Given the description of an element on the screen output the (x, y) to click on. 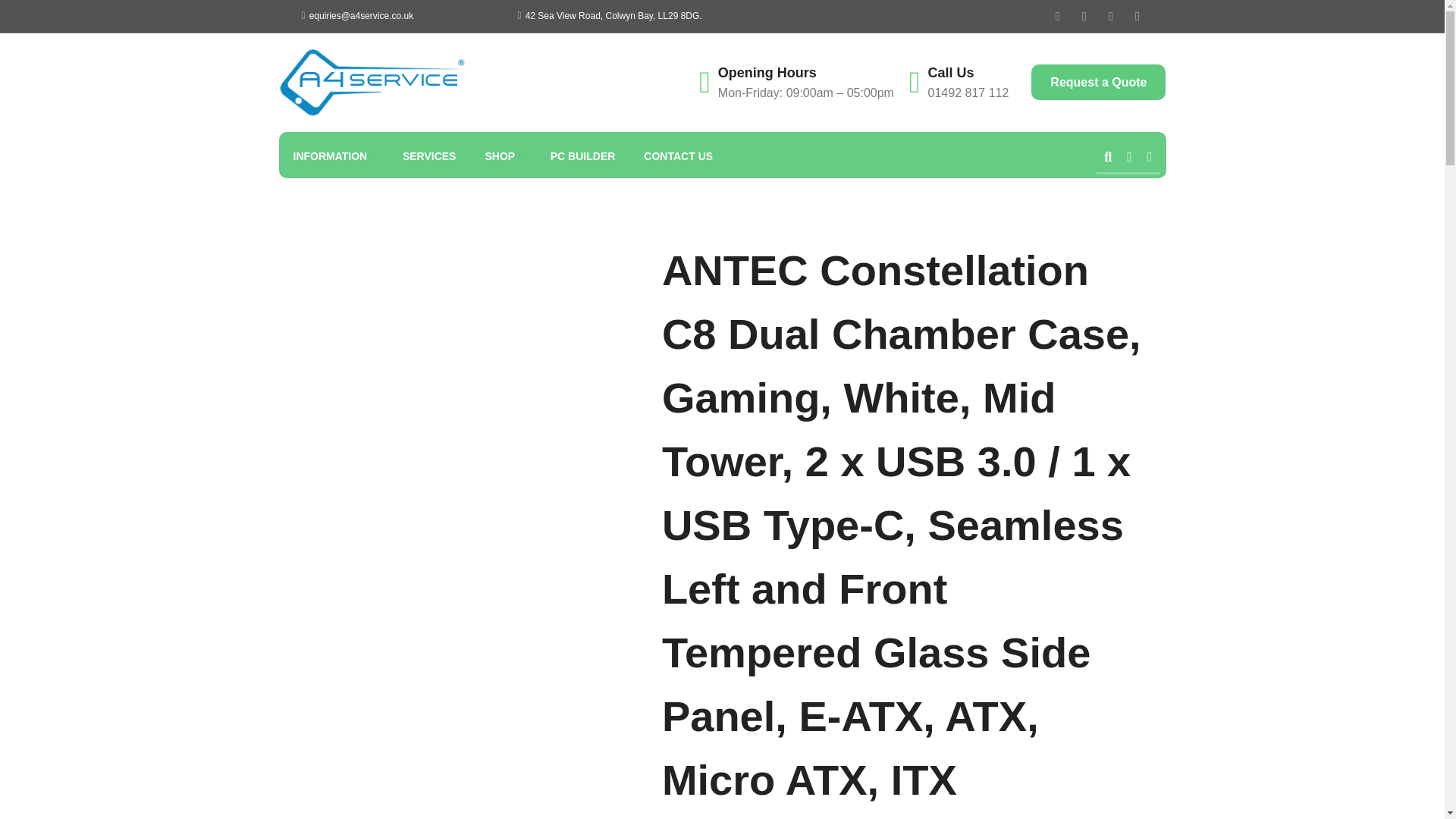
SERVICES (429, 156)
Request a Quote (1098, 81)
Facebook (1057, 15)
LinkedIn (1137, 15)
INFORMATION (333, 156)
Twitter (1084, 15)
Youtube (1109, 15)
SHOP (502, 156)
